Given the description of an element on the screen output the (x, y) to click on. 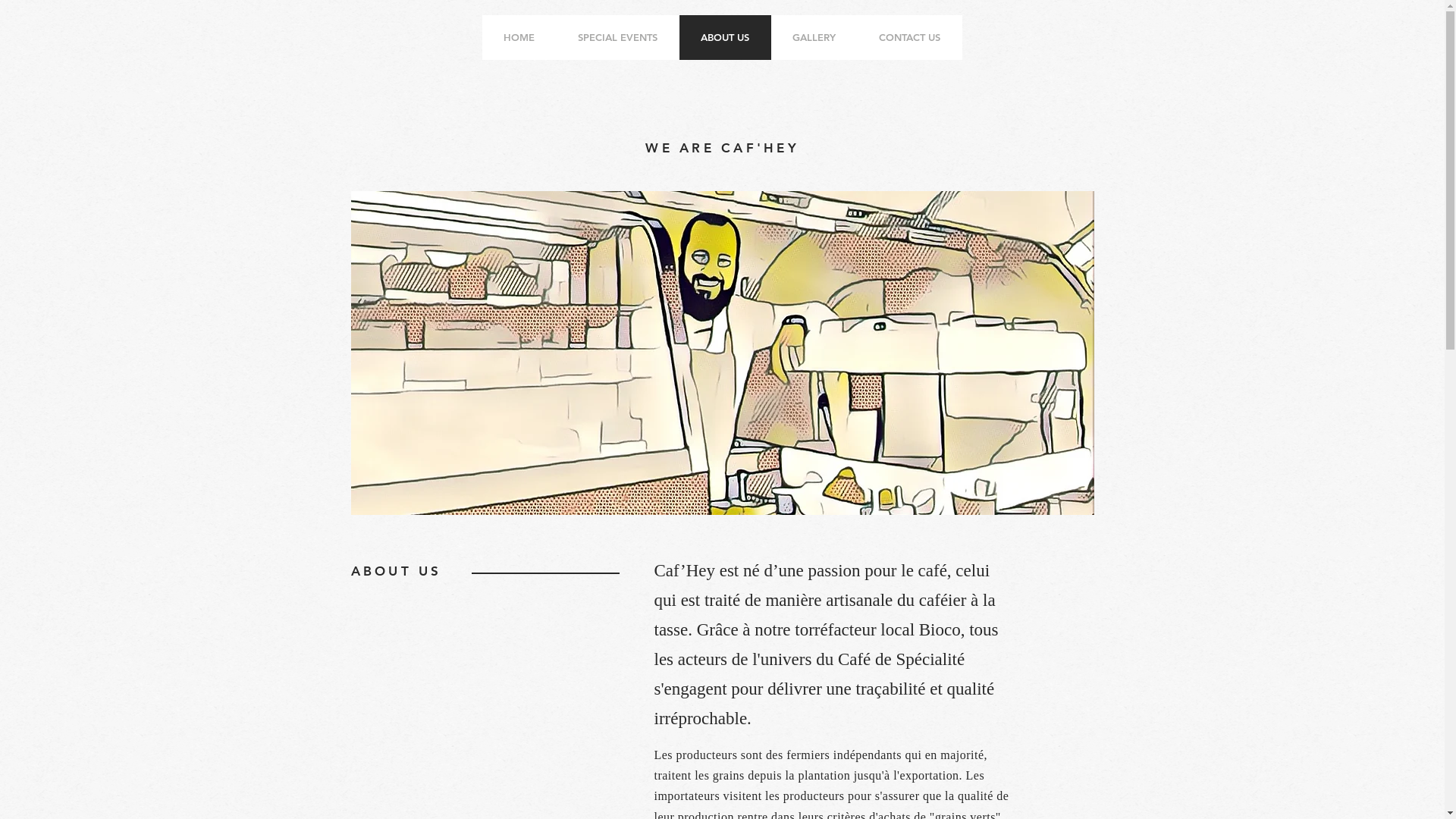
SPECIAL EVENTS Element type: text (617, 37)
CONTACT US Element type: text (908, 37)
ABOUT US Element type: text (725, 37)
GALLERY Element type: text (813, 37)
HOME Element type: text (519, 37)
